Given the description of an element on the screen output the (x, y) to click on. 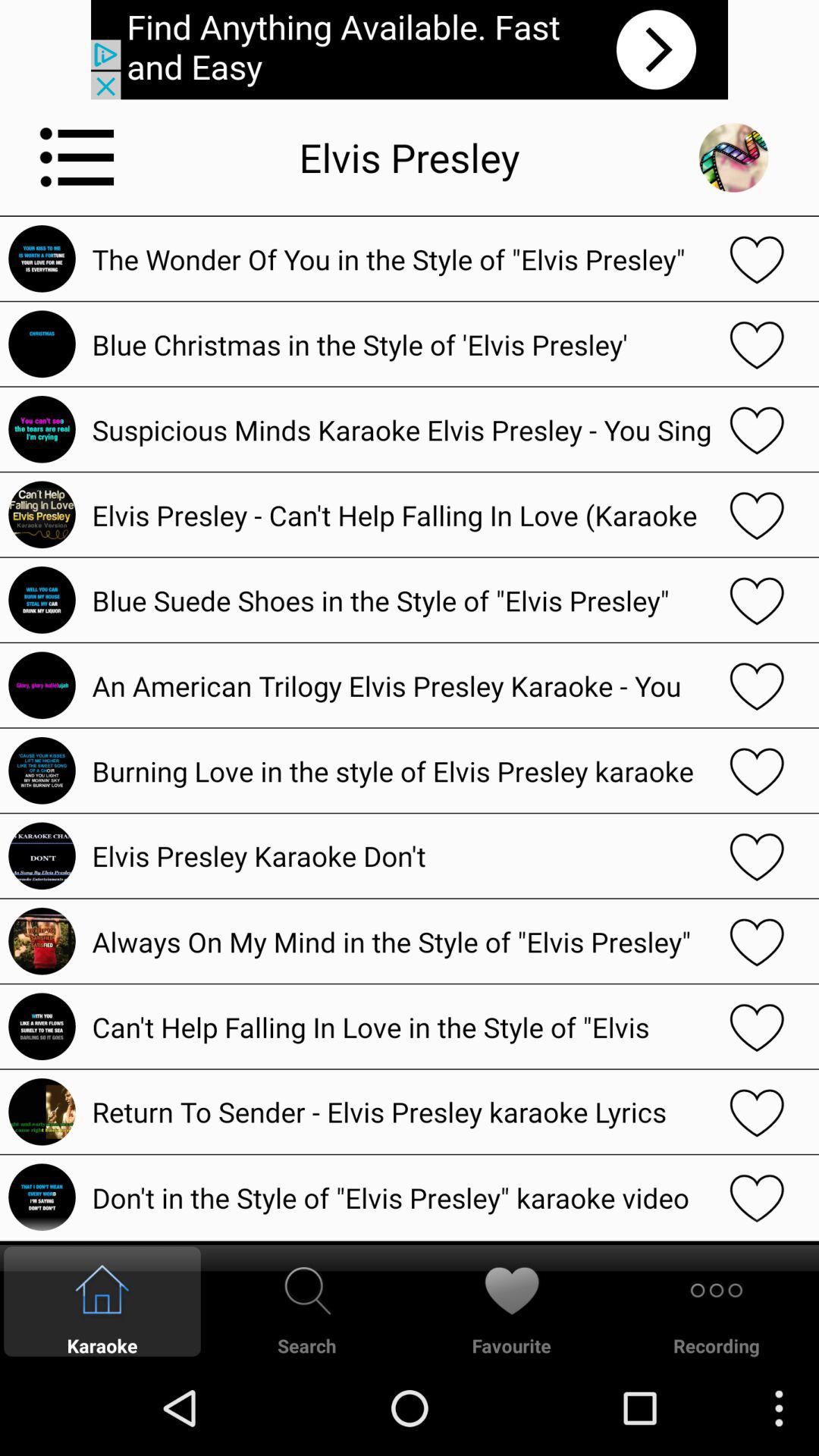
favorite this song (756, 258)
